Given the description of an element on the screen output the (x, y) to click on. 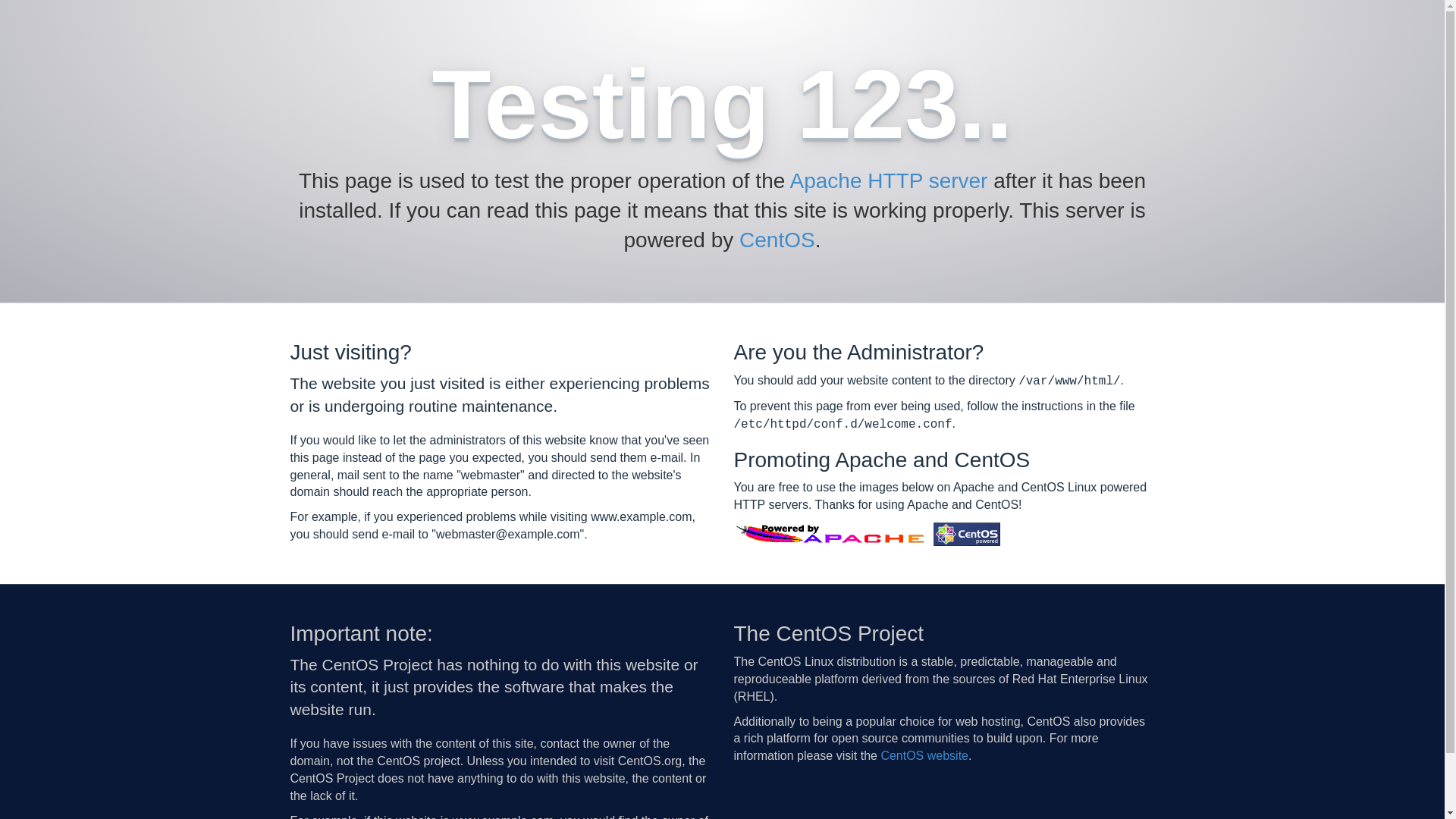
CentOS Element type: text (777, 239)
CentOS website Element type: text (924, 755)
Apache HTTP server Element type: text (889, 180)
